Given the description of an element on the screen output the (x, y) to click on. 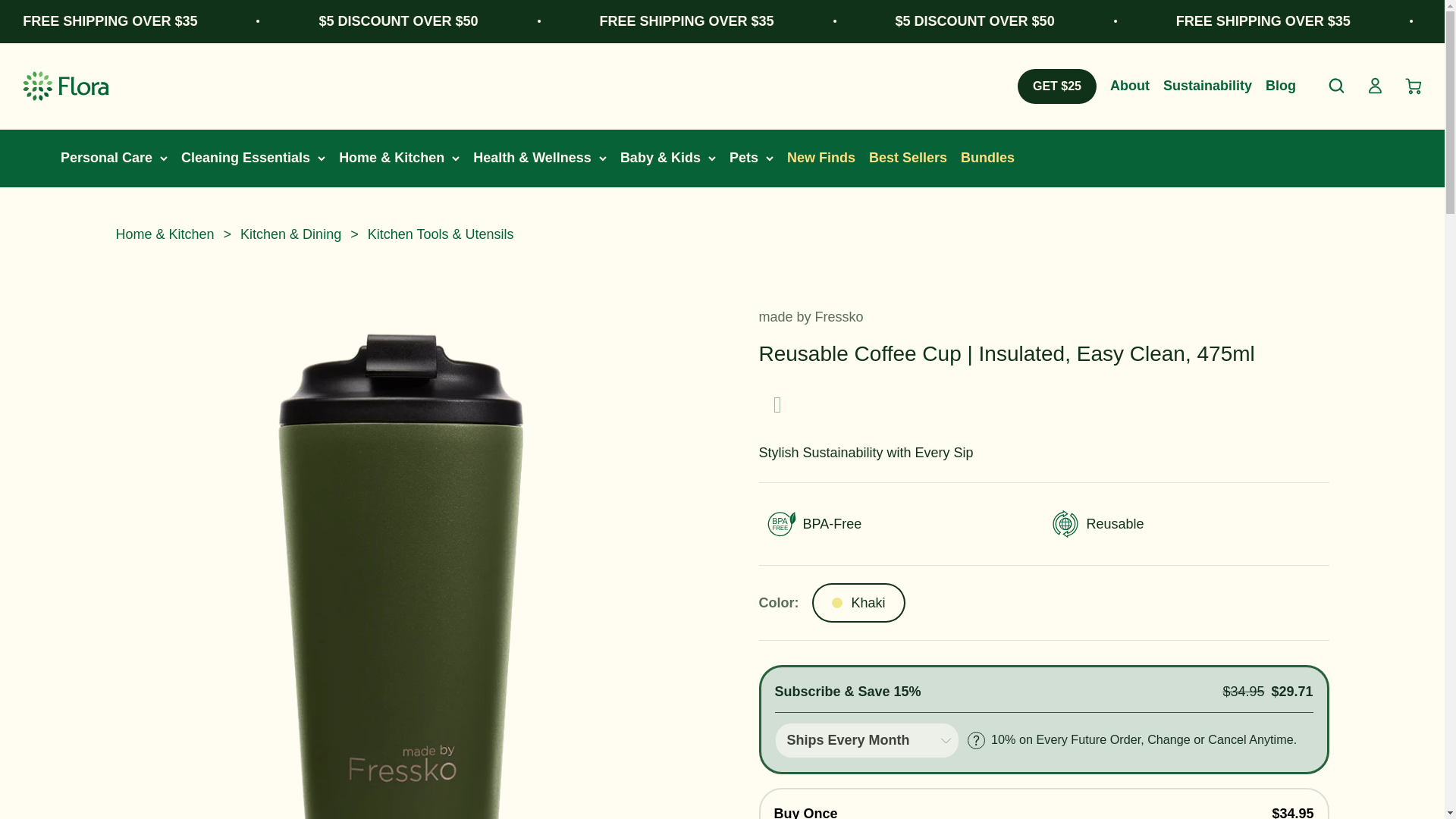
Flora (66, 85)
About (1129, 85)
Open Account Page (1375, 86)
Open Search (1336, 86)
Blog (1280, 85)
Sustainability (1207, 85)
Personal Care (106, 157)
